Given the description of an element on the screen output the (x, y) to click on. 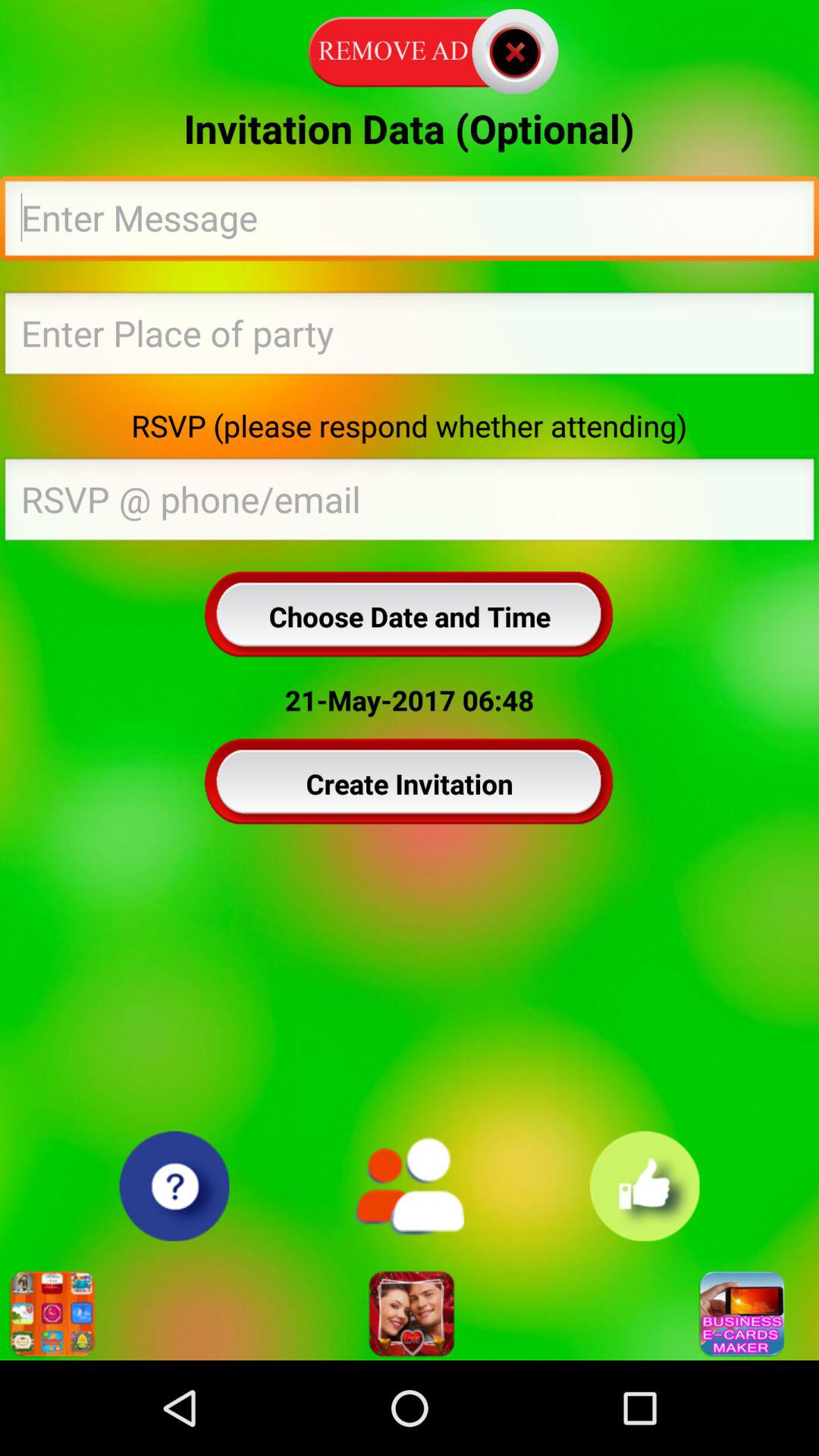
tap the choose date and icon (409, 616)
